Given the description of an element on the screen output the (x, y) to click on. 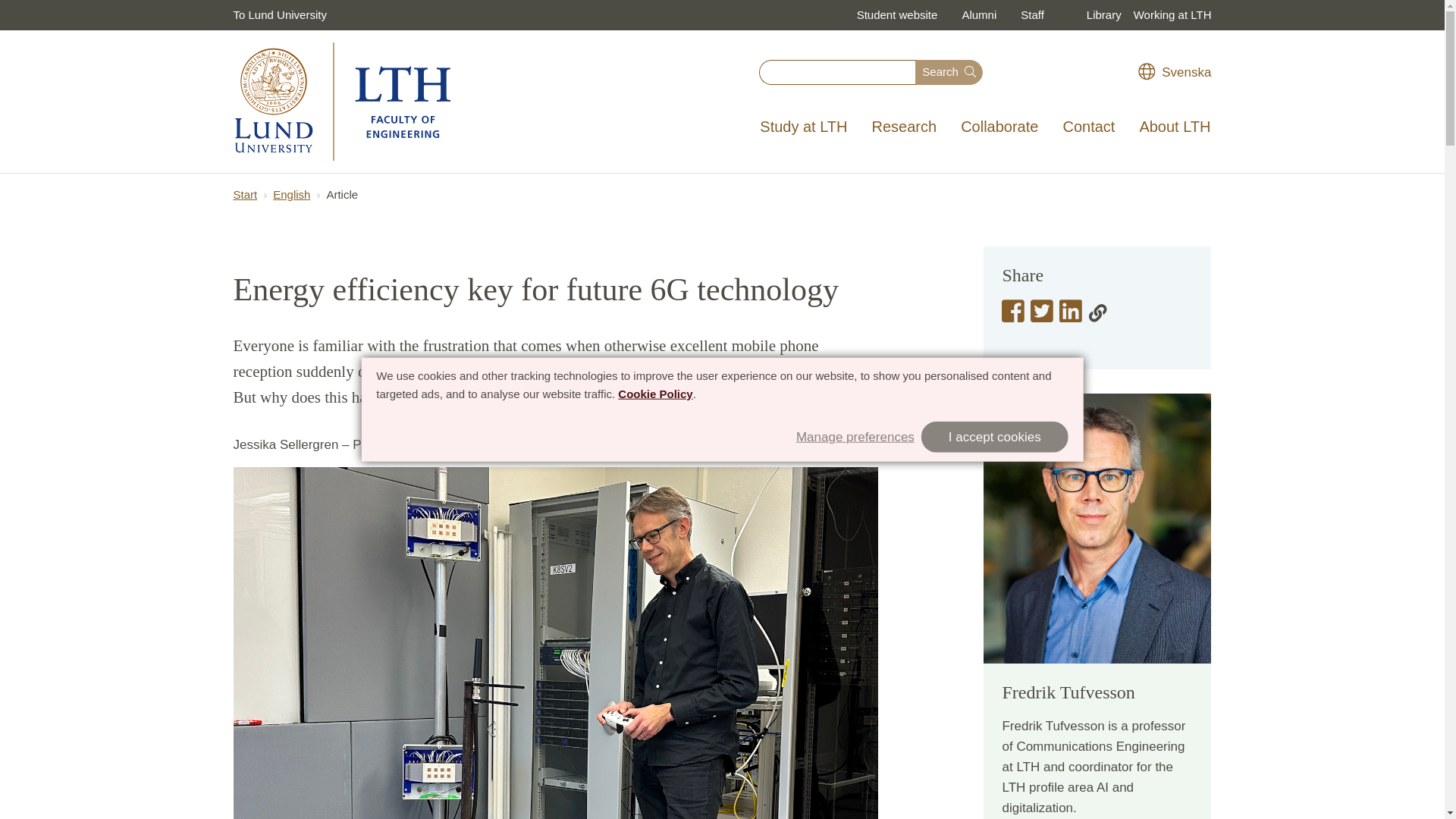
Study at LTH (803, 126)
Alumni (979, 15)
Research (904, 126)
Contact (1087, 126)
Alumni (979, 15)
Library (1103, 15)
Collaborate (999, 126)
Study at LTH (803, 126)
Library (1103, 15)
Manage preferences (854, 436)
Working at LTH (1171, 15)
Staff (1033, 15)
Svenska (1174, 72)
Staff (1033, 15)
Research (904, 126)
